Given the description of an element on the screen output the (x, y) to click on. 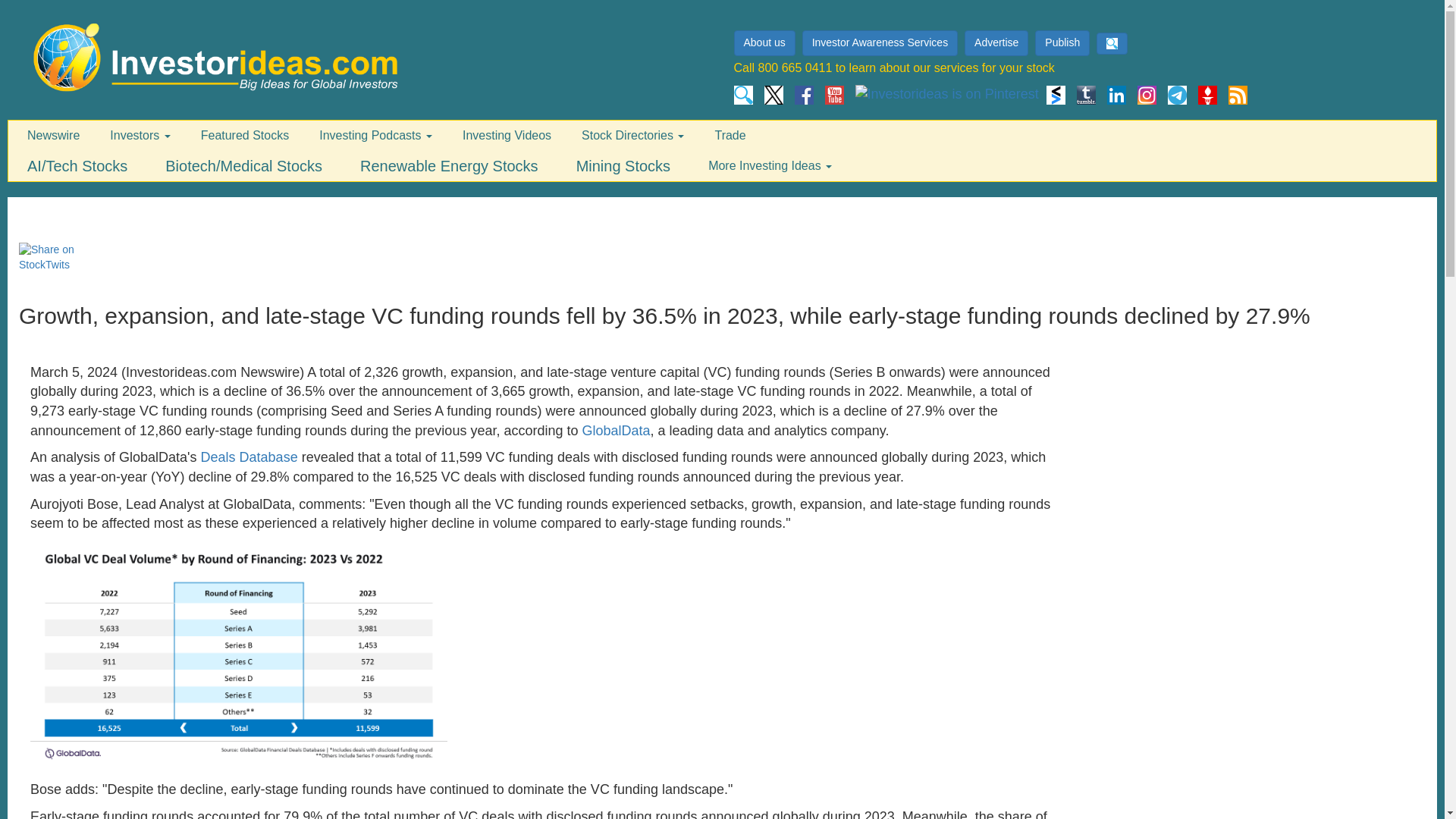
Investors (139, 135)
About us (763, 43)
Publish (1064, 43)
About us (766, 43)
Investing Videos (506, 135)
Investor Awareness Services (880, 43)
Stock Directories (632, 135)
Newswire (53, 135)
Investor Awareness Services (882, 43)
Investing Podcasts (375, 135)
